Given the description of an element on the screen output the (x, y) to click on. 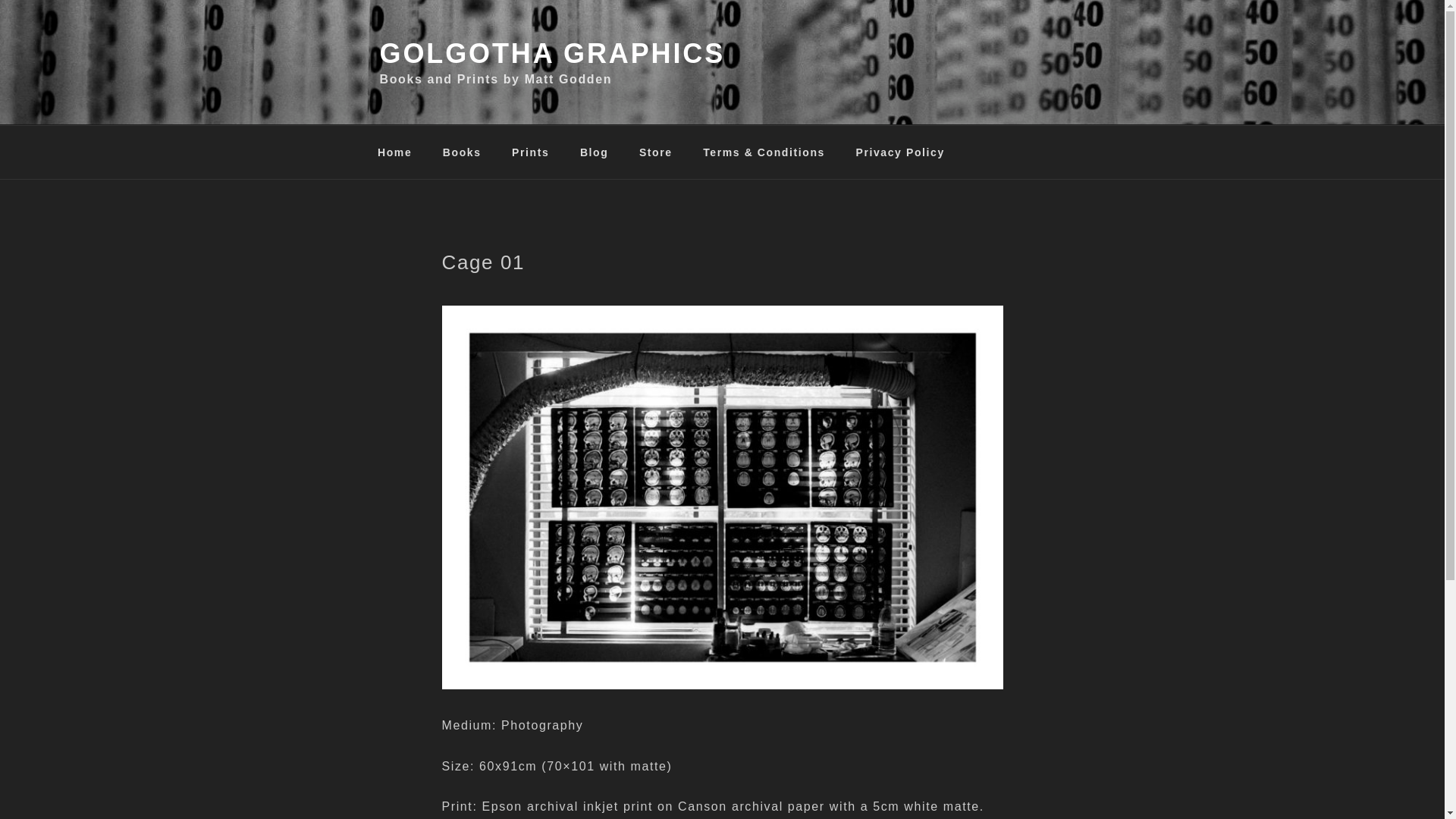
Skip to content Element type: text (0, 0)
Terms & Conditions Element type: text (764, 151)
Home Element type: text (394, 151)
Prints Element type: text (530, 151)
GOLGOTHA GRAPHICS Element type: text (551, 53)
Privacy Policy Element type: text (899, 151)
Blog Element type: text (593, 151)
Store Element type: text (655, 151)
Books Element type: text (461, 151)
